Given the description of an element on the screen output the (x, y) to click on. 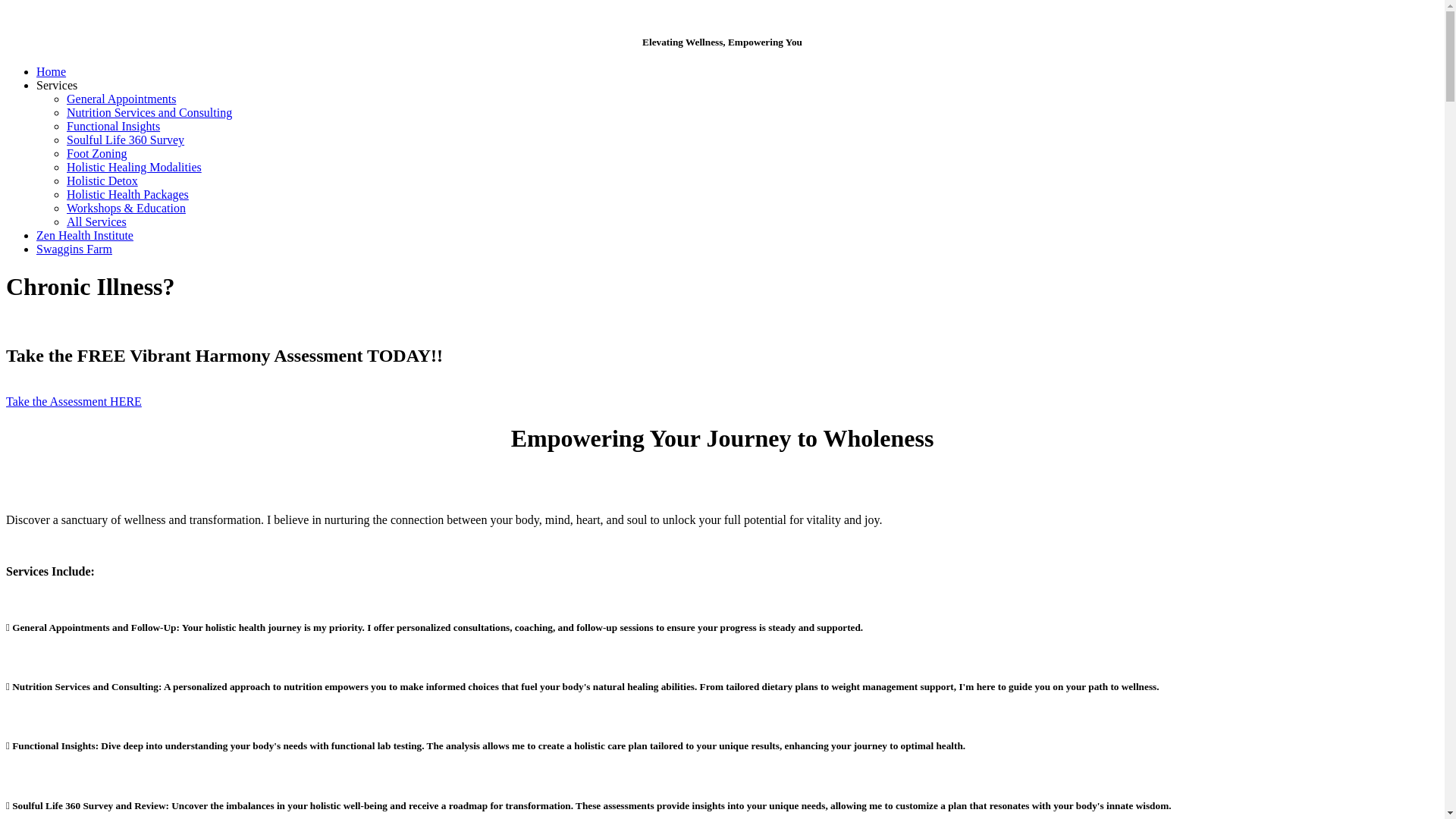
Functional Insights Element type: text (113, 125)
Take the Assessment HERE Element type: text (73, 401)
Zen Health Institute Element type: text (84, 235)
Holistic Detox Element type: text (102, 180)
Holistic Health Packages Element type: text (127, 194)
Workshops & Education Element type: text (125, 207)
All Services Element type: text (96, 221)
Holistic Healing Modalities Element type: text (133, 166)
Swaggins Farm Element type: text (74, 248)
Home Element type: text (50, 71)
Services Element type: text (56, 84)
General Appointments Element type: text (120, 98)
Soulful Life 360 Survey Element type: text (125, 139)
Foot Zoning Element type: text (96, 153)
Nutrition Services and Consulting Element type: text (149, 112)
